Given the description of an element on the screen output the (x, y) to click on. 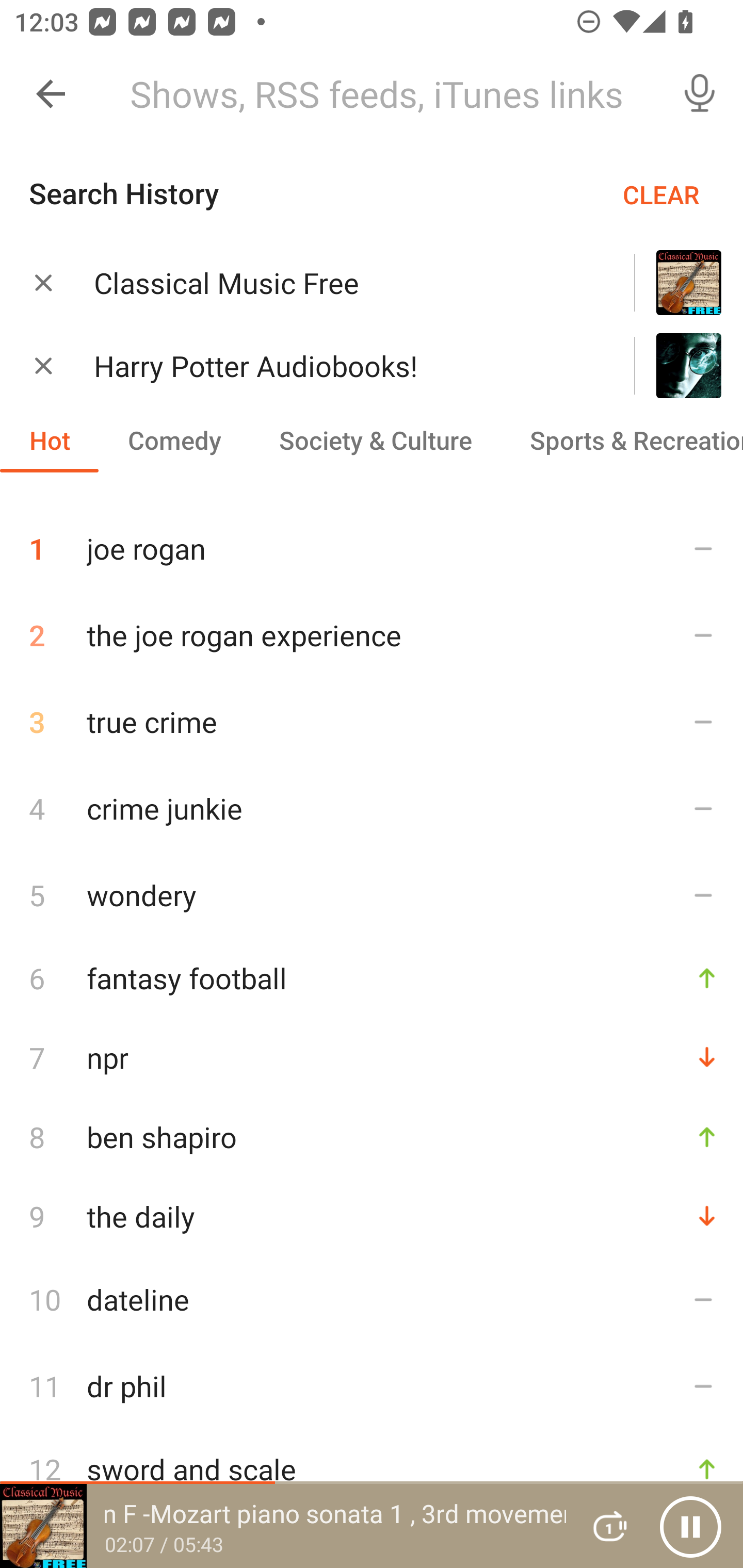
Collapse (50, 93)
Voice Search (699, 93)
Shows, RSS feeds, iTunes links (385, 94)
CLEAR (660, 194)
Classical Music Free (338, 282)
 Clear (43, 282)
Harry Potter Audiobooks! (338, 365)
 Clear (43, 365)
Hot (49, 439)
Comedy (173, 439)
Society & Culture (374, 439)
Sports & Recreation (621, 439)
1 joe rogan (371, 540)
2 the joe rogan experience (371, 634)
3 true crime (371, 721)
4 crime junkie (371, 808)
5 wondery (371, 894)
6 fantasy football (371, 977)
7 npr (371, 1057)
8 ben shapiro (371, 1136)
9 the daily (371, 1215)
10 dateline (371, 1298)
11 dr phil (371, 1386)
Pause (690, 1526)
